Given the description of an element on the screen output the (x, y) to click on. 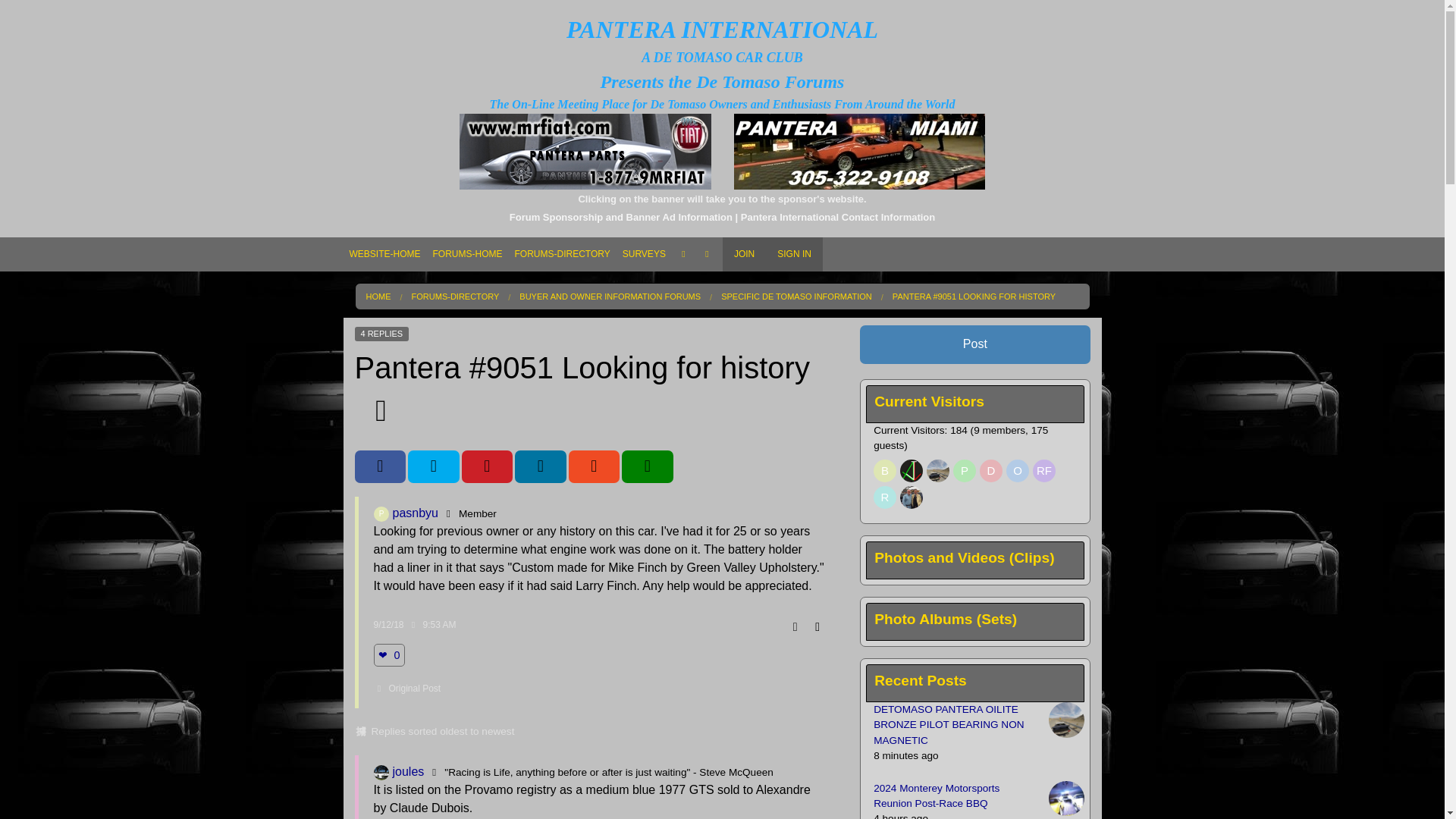
ALL TOPICS (561, 311)
D (991, 470)
B (884, 470)
joules (380, 772)
DIRECTORY (561, 284)
PHOTOGRAPH AND VIDEO FORUMS (561, 392)
RF (1043, 470)
FORUMS-DIRECTORY (561, 254)
SOCIALIZING FORUMS (561, 365)
O (1017, 470)
